Given the description of an element on the screen output the (x, y) to click on. 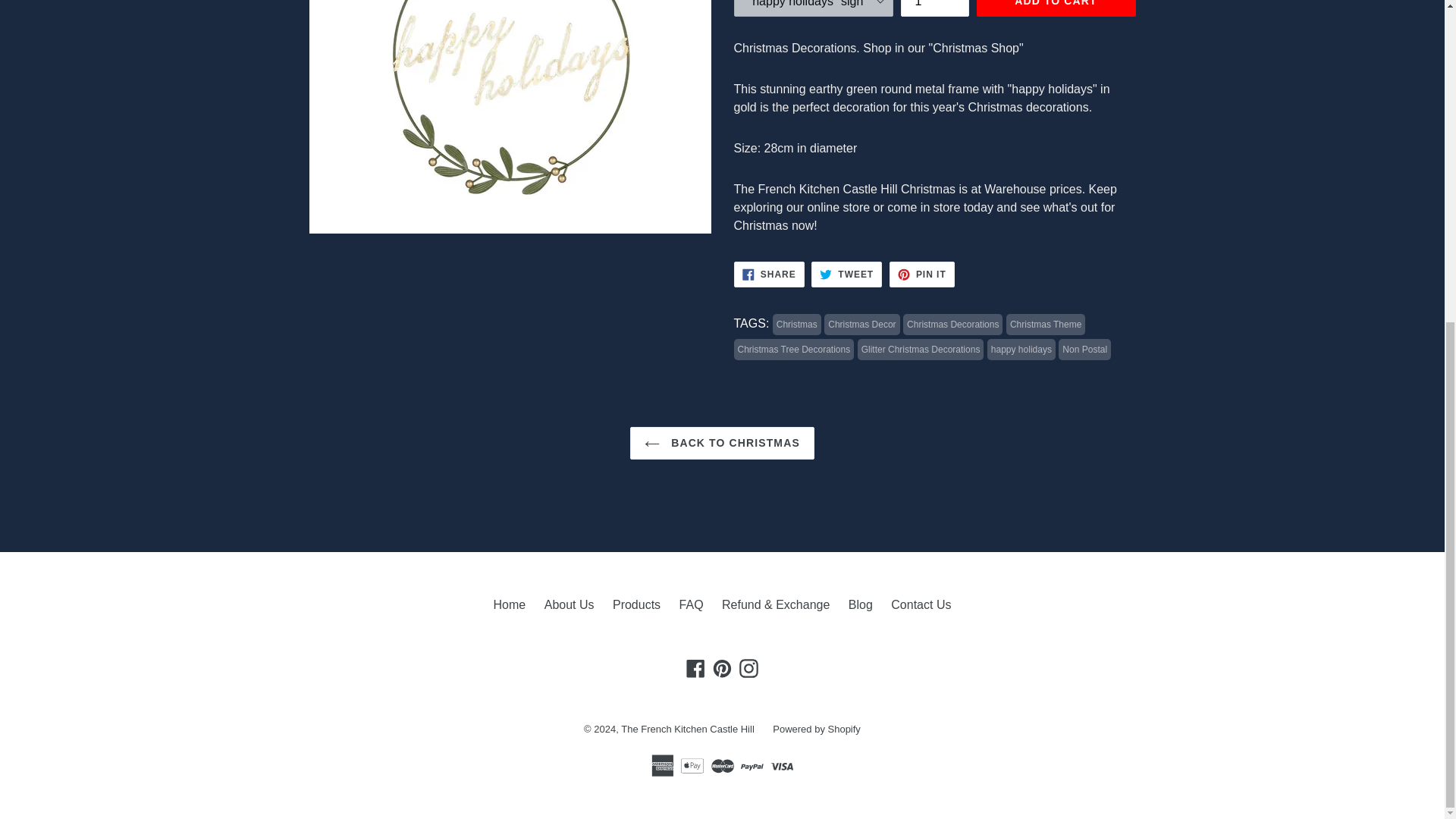
The French Kitchen Castle Hill on Instagram (748, 668)
Share on Facebook (769, 274)
The French Kitchen Castle Hill on Facebook (695, 668)
BACK TO CHRISTMAS (721, 442)
ADD TO CART (1055, 8)
Contact Us (922, 274)
Powered by Shopify (920, 604)
The French Kitchen Castle Hill on Pinterest (816, 728)
Products (769, 274)
Instagram (721, 668)
About Us (636, 604)
Facebook (748, 668)
